Given the description of an element on the screen output the (x, y) to click on. 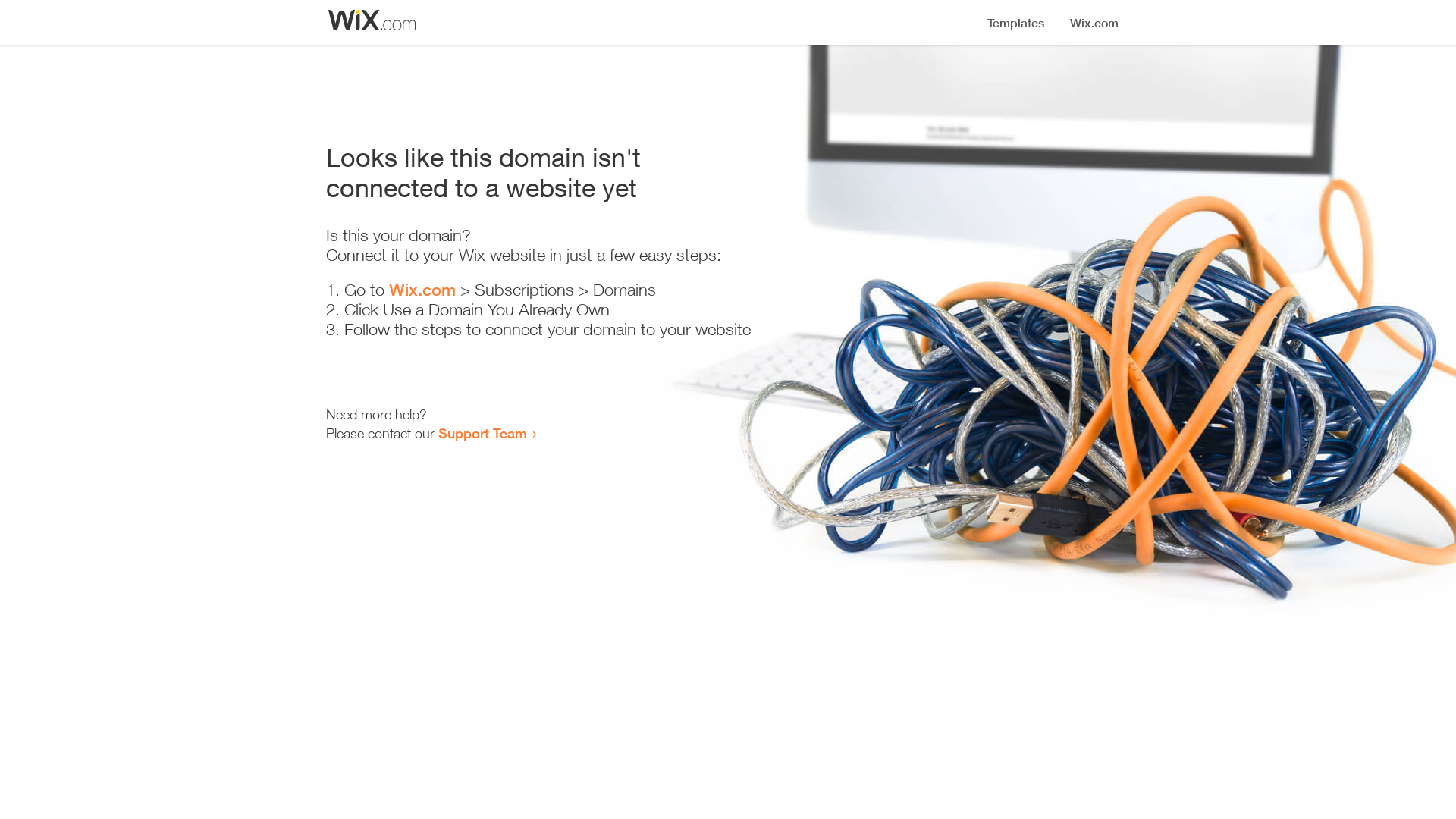
Support Team Element type: text (482, 432)
Wix.com Element type: text (422, 289)
